Given the description of an element on the screen output the (x, y) to click on. 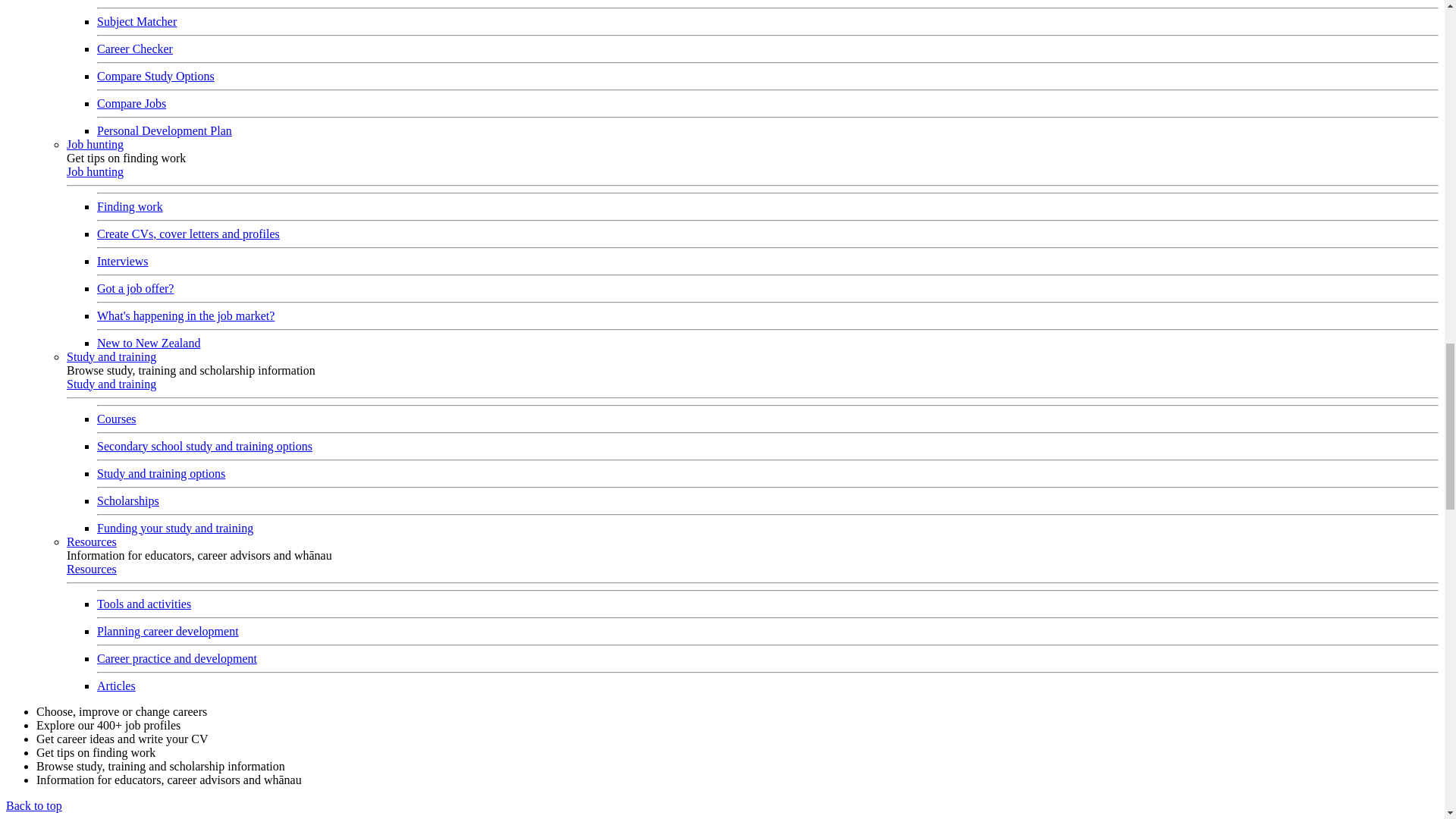
Back to top (33, 805)
